Given the description of an element on the screen output the (x, y) to click on. 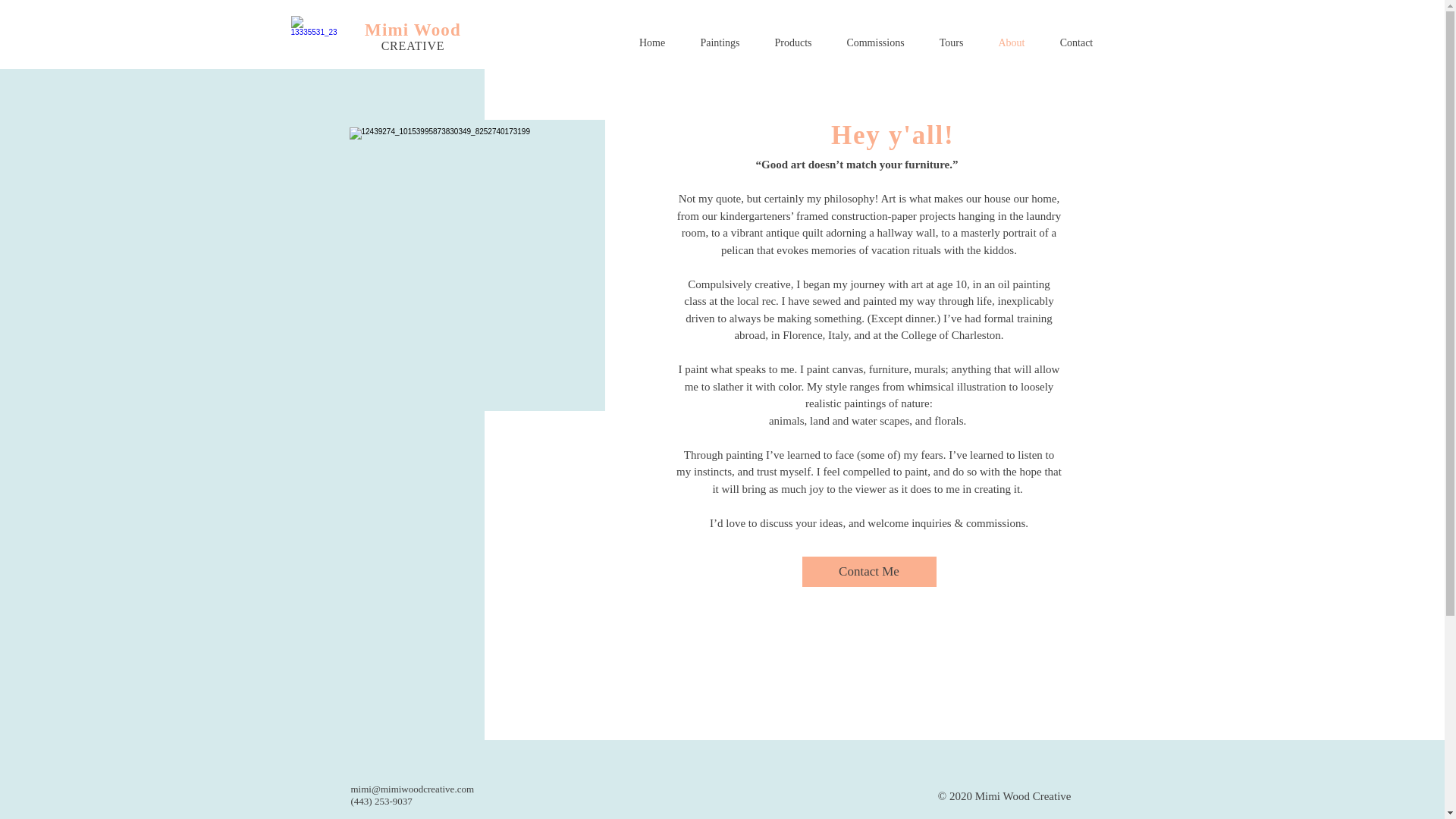
Contact (1075, 43)
Contact Me (869, 571)
Home (651, 43)
Products (792, 43)
Mimi Wood (413, 29)
Tours (951, 43)
Commissions (875, 43)
About (1011, 43)
Paintings (719, 43)
